Given the description of an element on the screen output the (x, y) to click on. 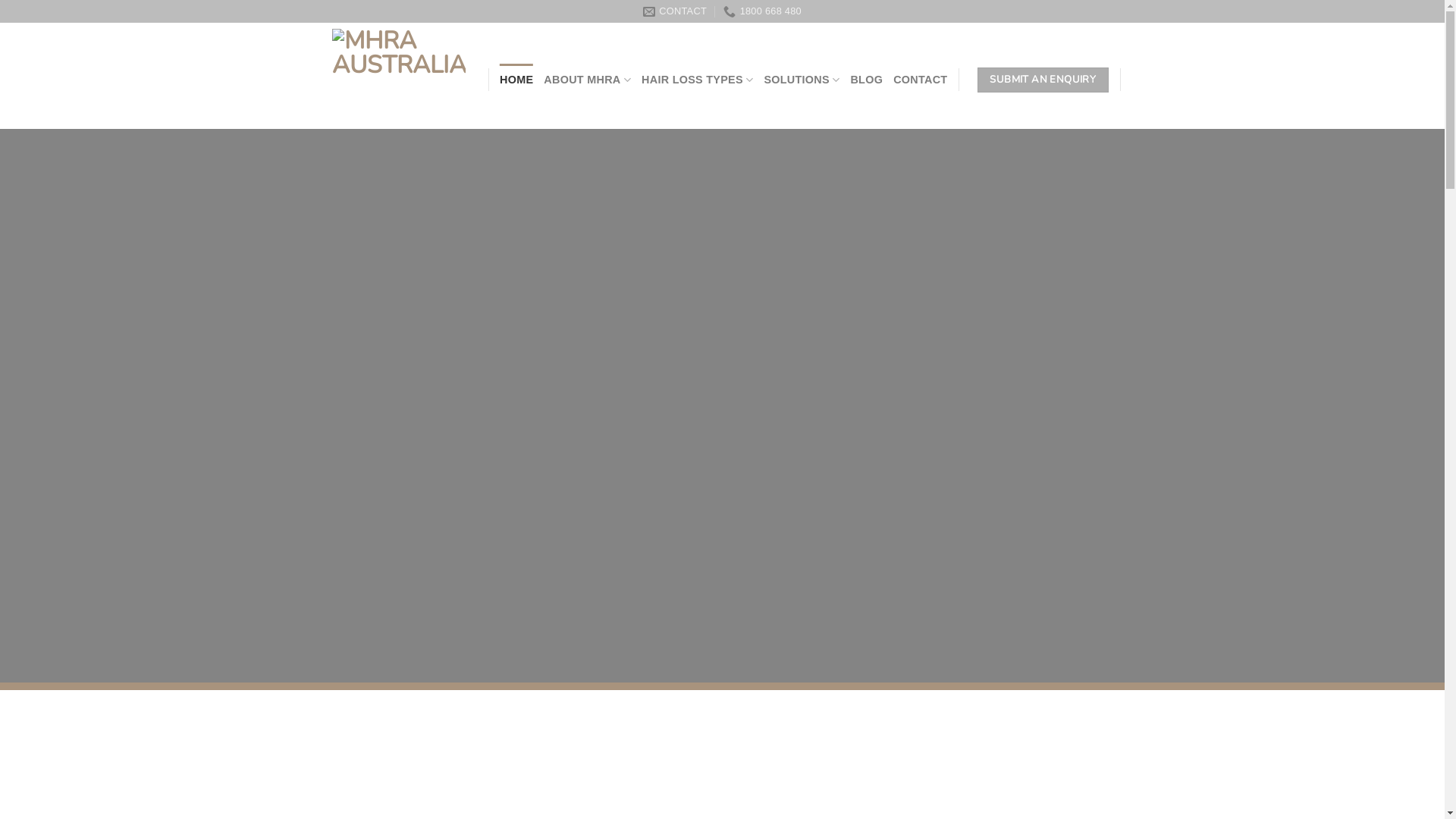
HOME Element type: text (516, 79)
CONTACT Element type: text (920, 79)
MHRA Australia Element type: hover (398, 75)
SUBMIT AN ENQUIRY Element type: text (1042, 80)
SOLUTIONS Element type: text (801, 79)
Skip to content Element type: text (0, 0)
1800 668 480 Element type: text (762, 11)
ABOUT MHRA Element type: text (586, 79)
BLOG Element type: text (866, 79)
HAIR LOSS TYPES Element type: text (697, 79)
CONTACT Element type: text (674, 11)
